Given the description of an element on the screen output the (x, y) to click on. 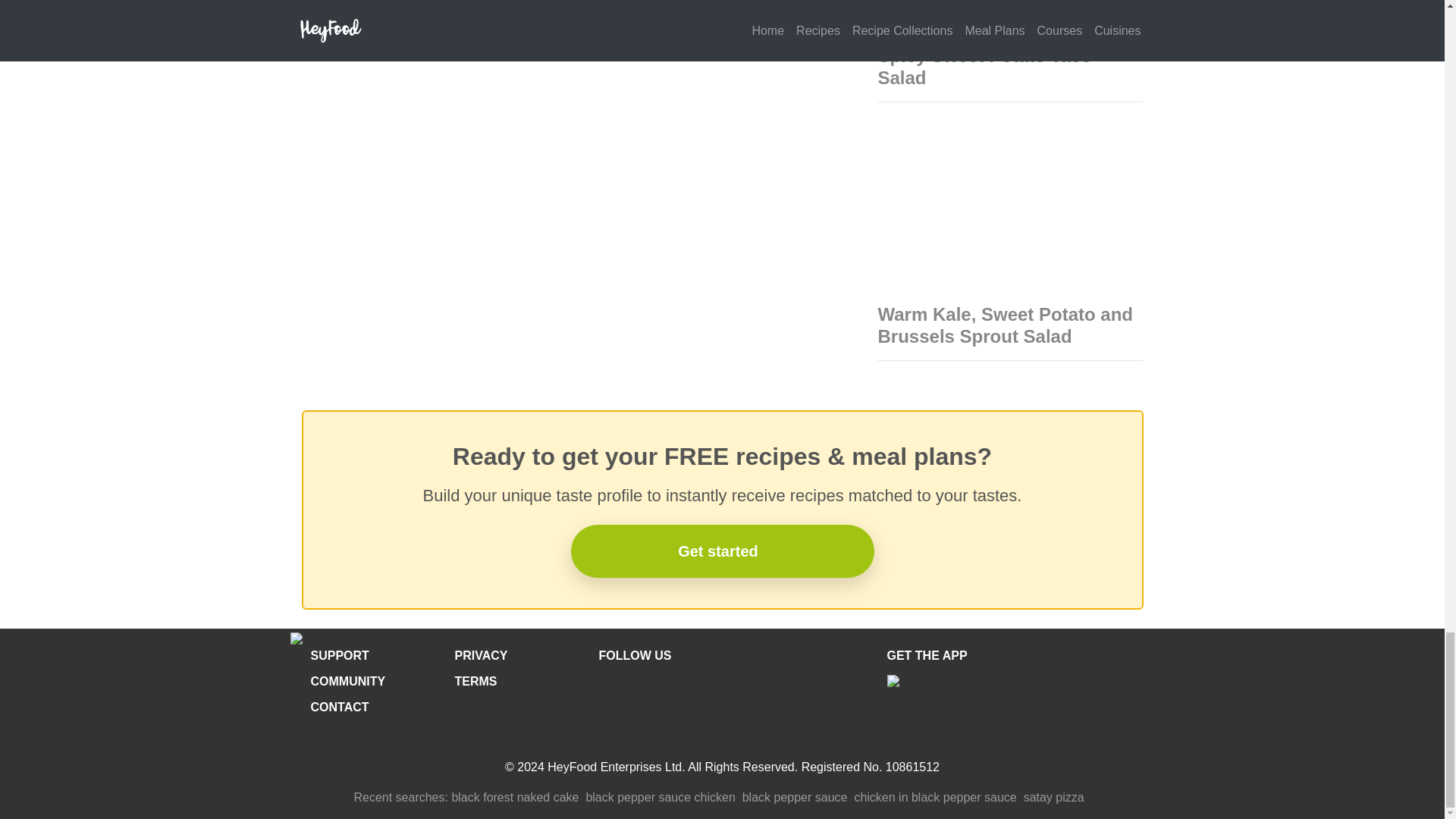
Warm Kale, Sweet Potato and Brussels Sprout Salad (1005, 324)
Get started   (721, 551)
SUPPORT (340, 655)
Spicy Sweet Potato Taco Salad (984, 66)
